Given the description of an element on the screen output the (x, y) to click on. 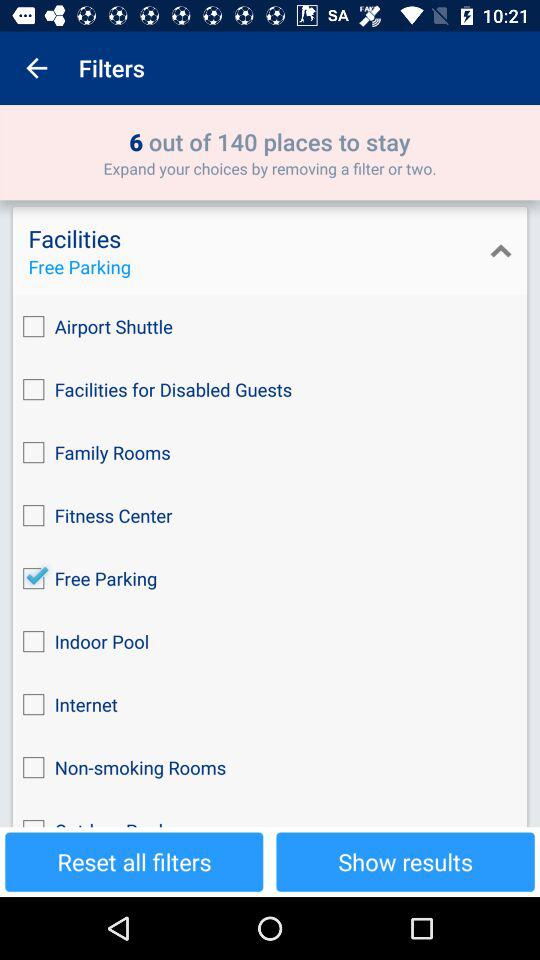
scroll to the indoor pool checkbox (269, 641)
